Given the description of an element on the screen output the (x, y) to click on. 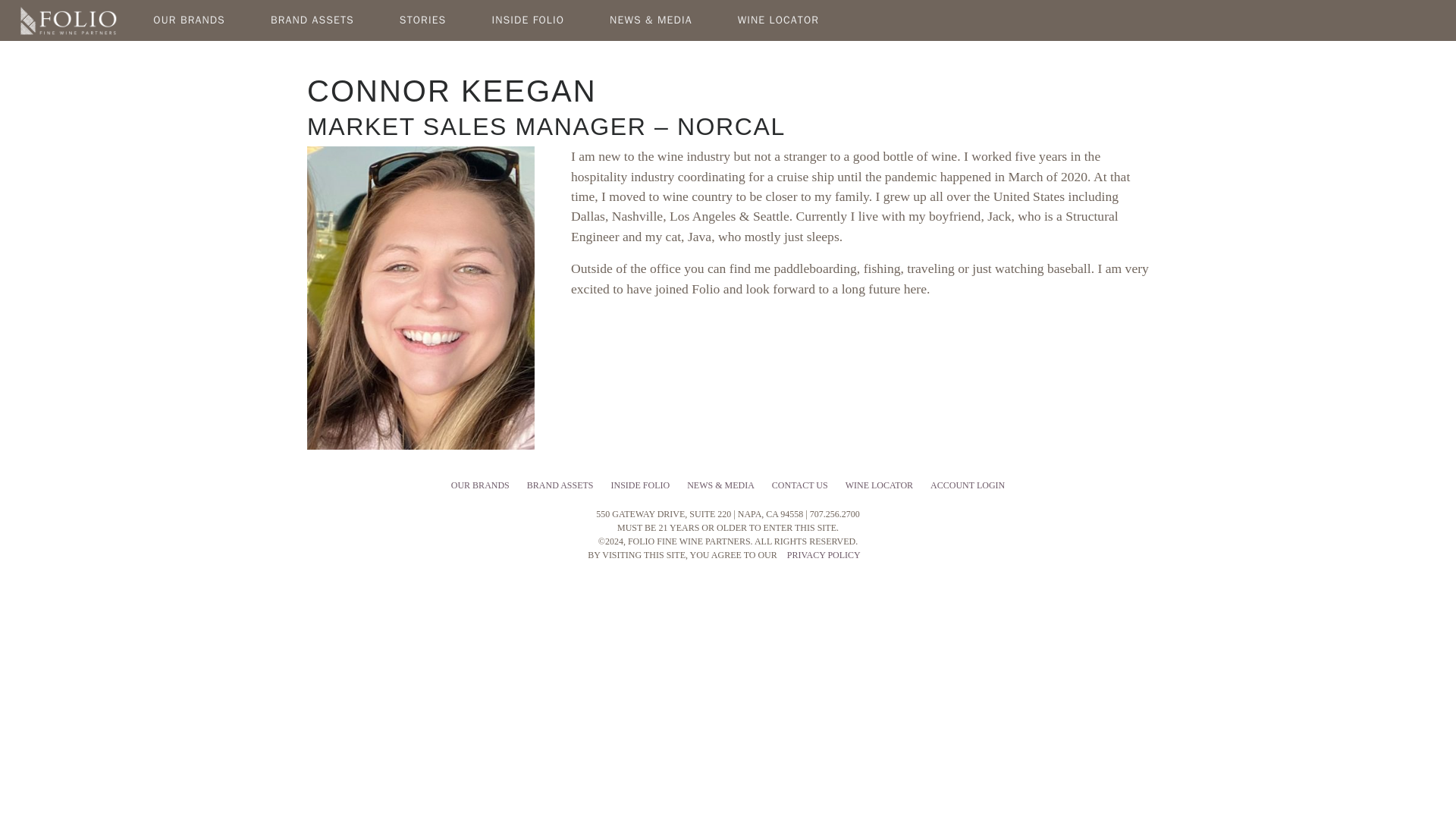
OUR BRANDS (188, 25)
